Given the description of an element on the screen output the (x, y) to click on. 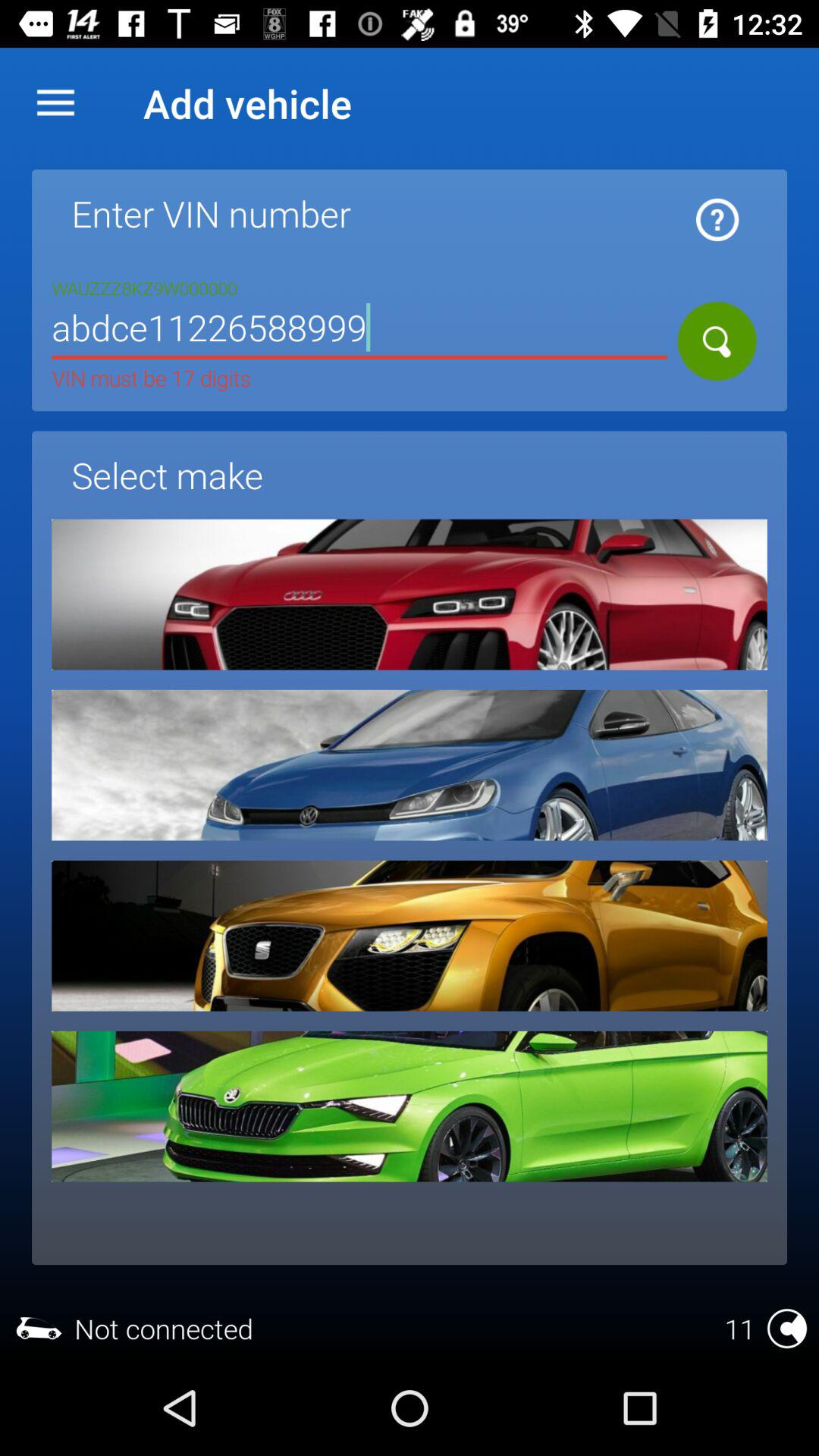
click for information (717, 219)
